Given the description of an element on the screen output the (x, y) to click on. 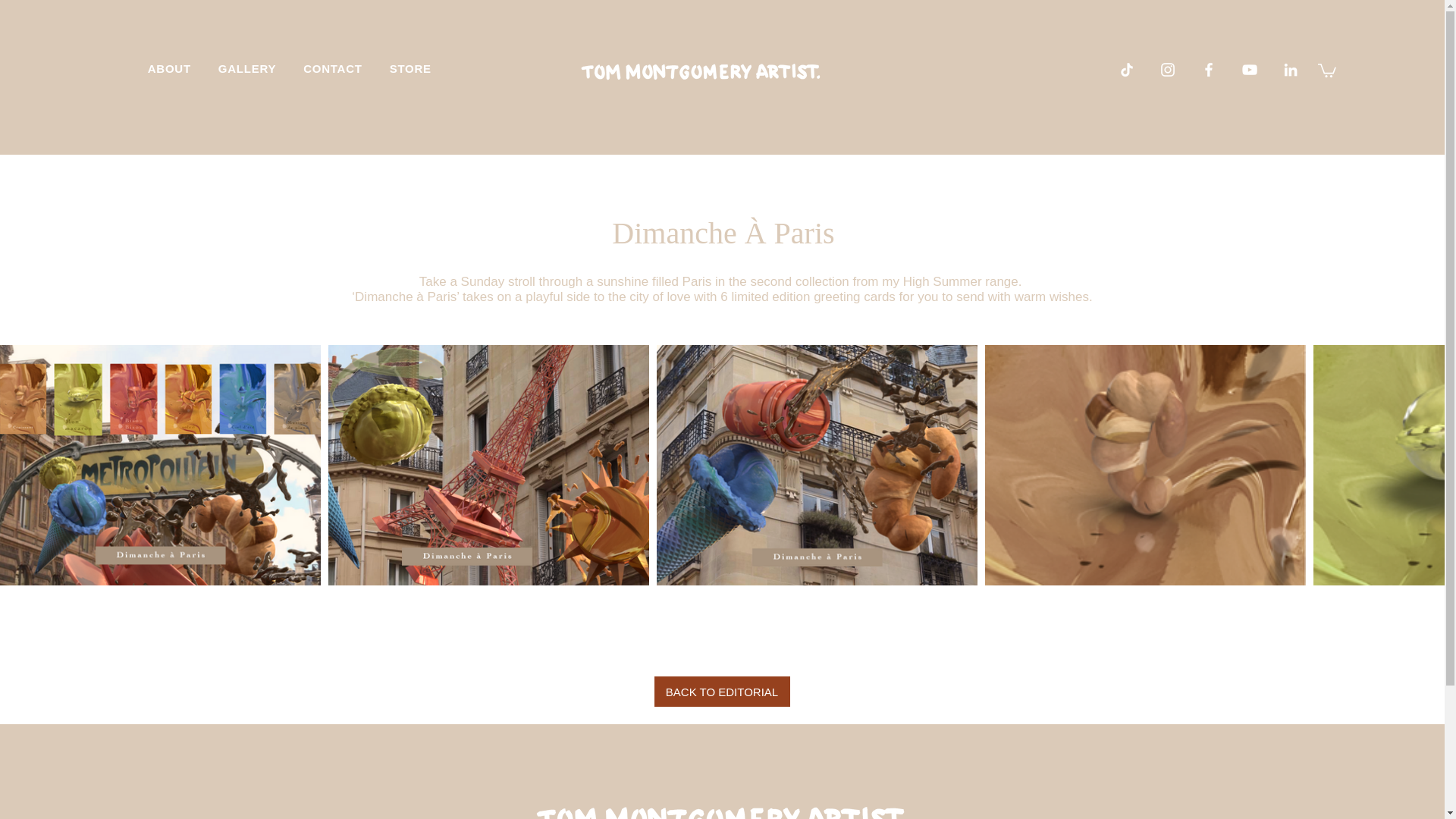
STORE (410, 68)
CONTACT (332, 68)
BACK TO EDITORIAL (721, 691)
